Given the description of an element on the screen output the (x, y) to click on. 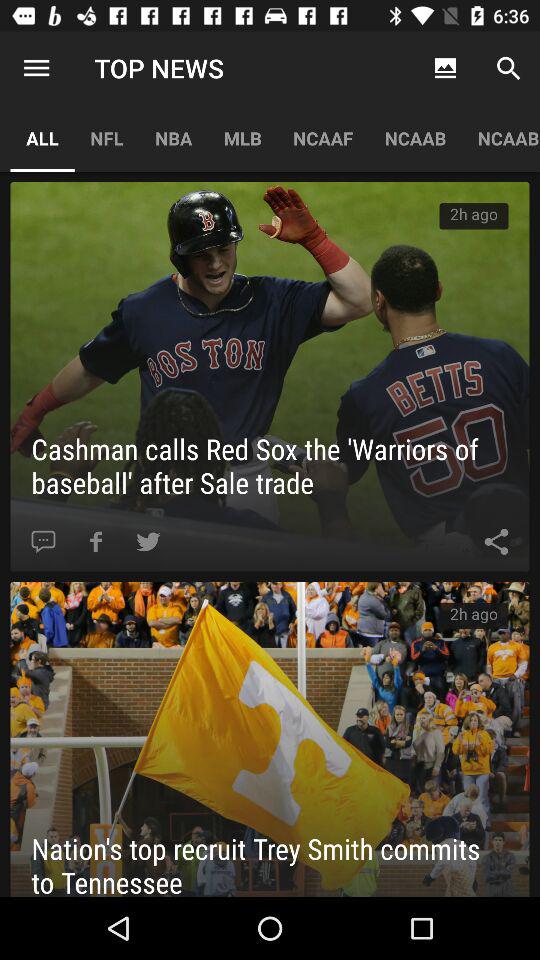
turn on item next to nfl (42, 138)
